Given the description of an element on the screen output the (x, y) to click on. 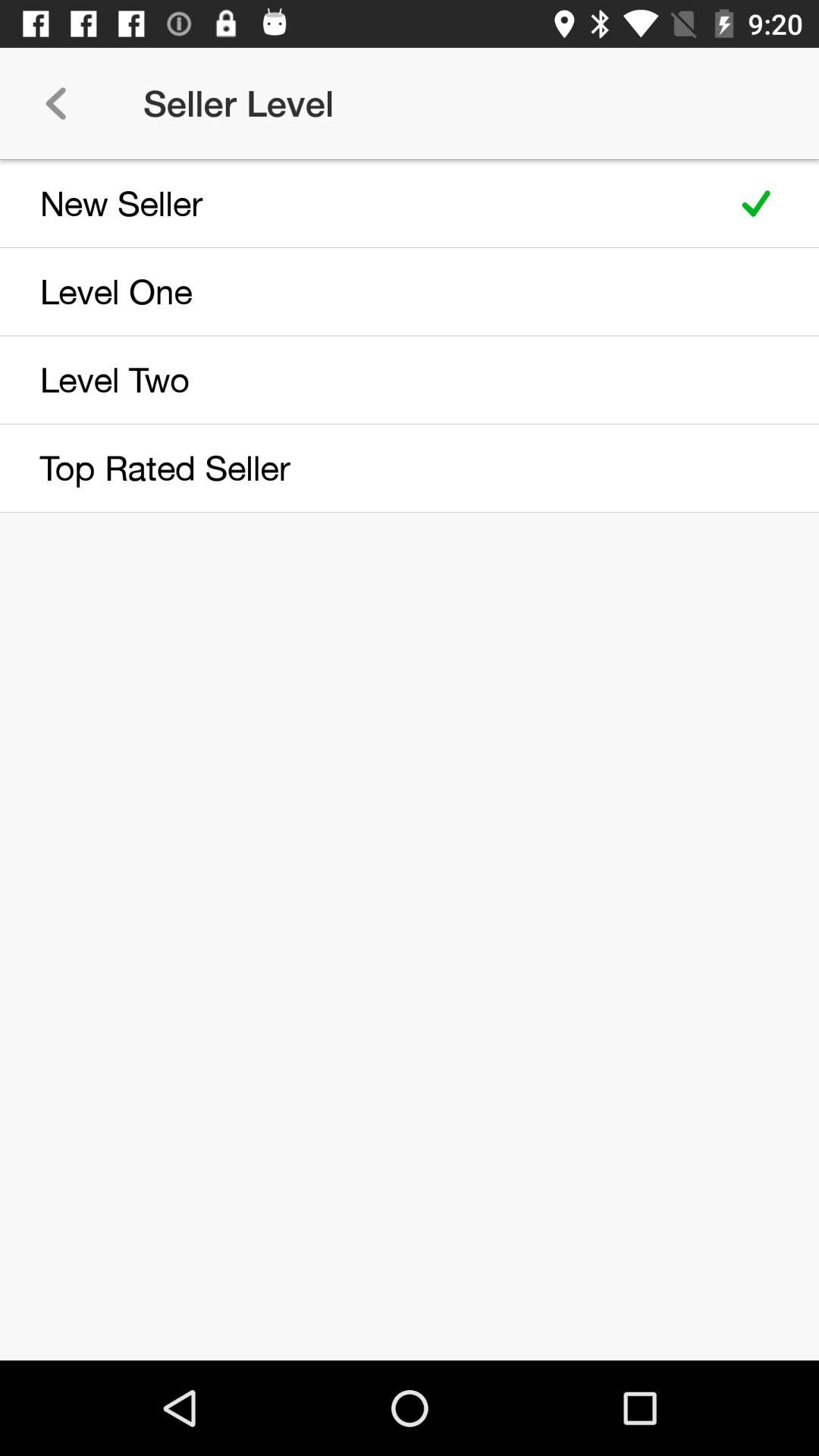
choose the new seller (358, 203)
